Given the description of an element on the screen output the (x, y) to click on. 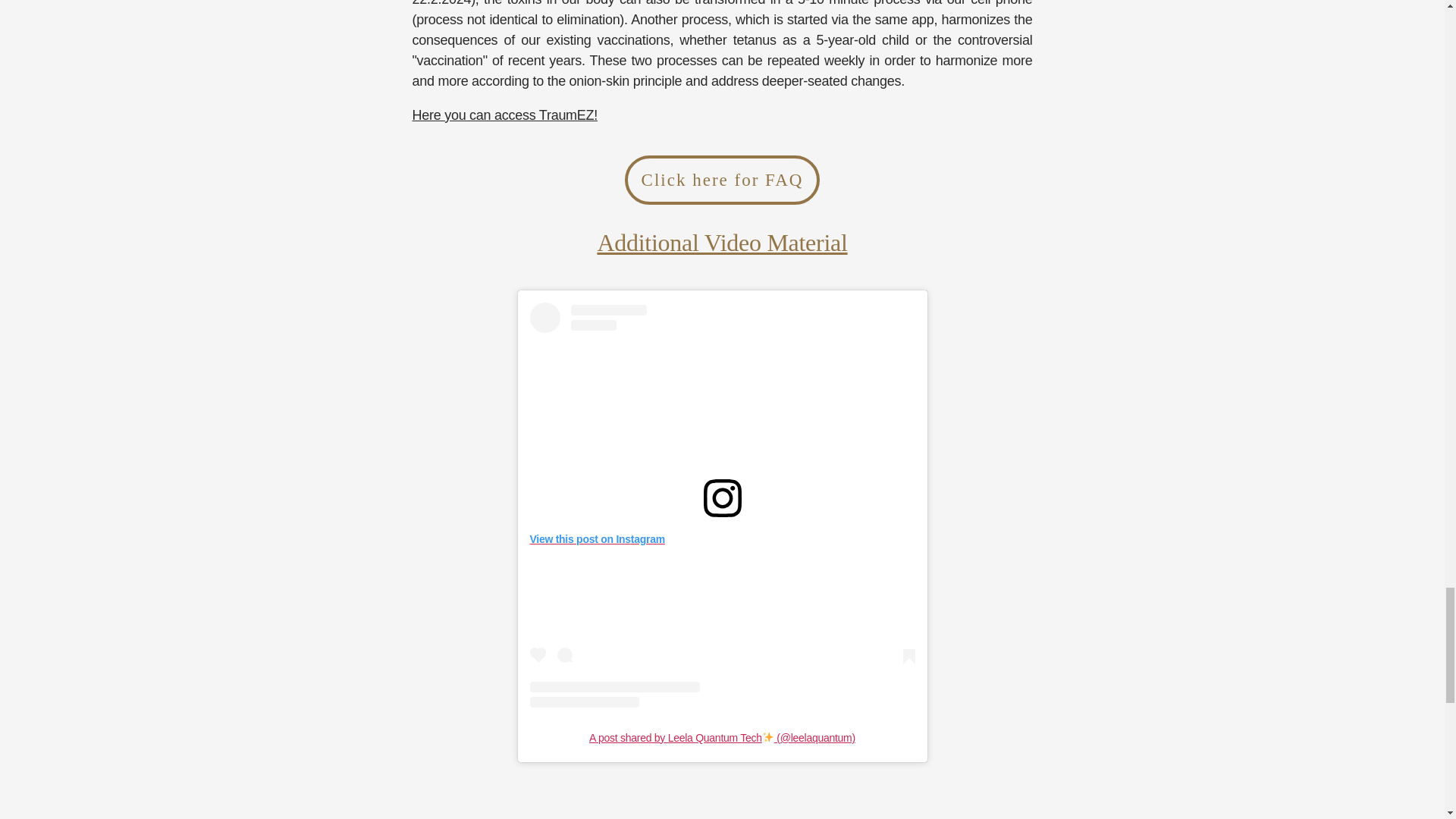
Here you can access TraumEZ! (505, 114)
Click here for FAQ (722, 180)
Responsive Video (564, 814)
Responsive Video (880, 814)
